Given the description of an element on the screen output the (x, y) to click on. 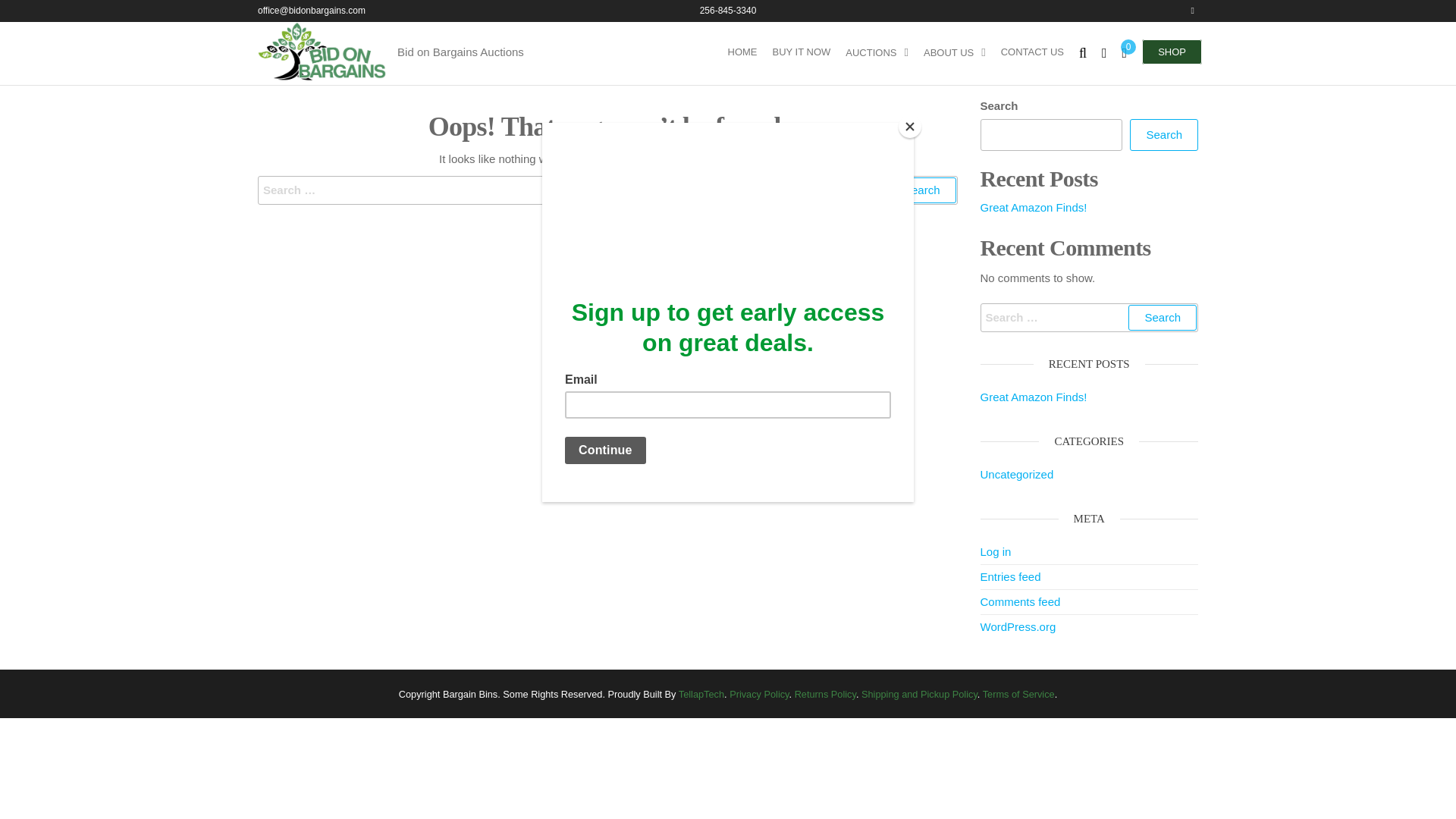
Search (922, 190)
Terms of Service (1018, 694)
Entries feed (1010, 576)
Great Amazon Finds! (1032, 396)
Search (1163, 134)
Privacy Policy (759, 694)
Contact Us (1031, 52)
Great Amazon Finds! (1032, 206)
Auctions (876, 52)
Bid on Bargains (442, 67)
About Us (953, 52)
SHOP (1171, 51)
Buy It Now (801, 52)
AUCTIONS (876, 52)
TellapTech (700, 694)
